Given the description of an element on the screen output the (x, y) to click on. 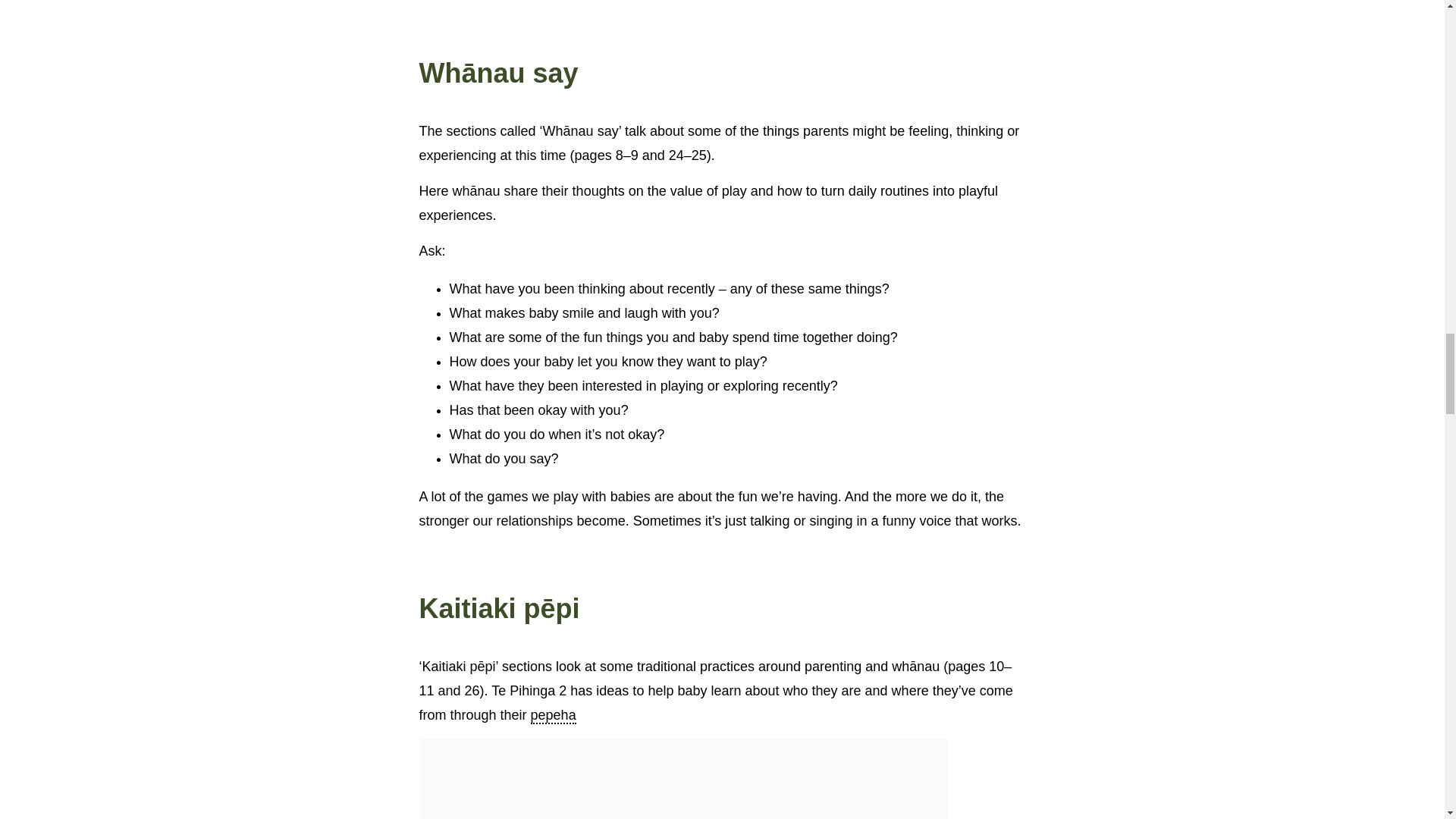
PausePlay (683, 778)
